Given the description of an element on the screen output the (x, y) to click on. 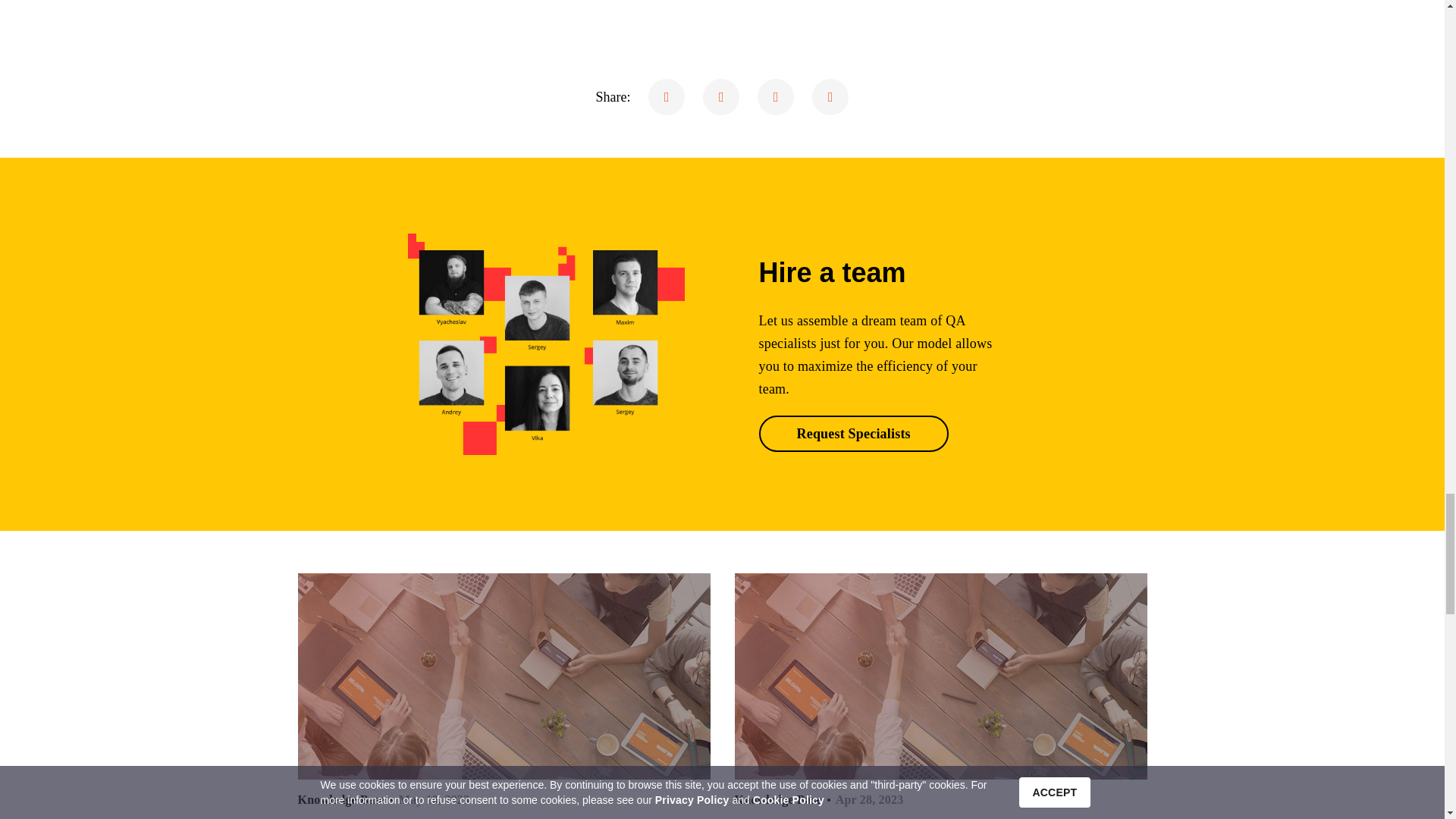
Mail to (830, 96)
Linkedin (775, 96)
Facebook (665, 96)
Twitter (721, 96)
